Given the description of an element on the screen output the (x, y) to click on. 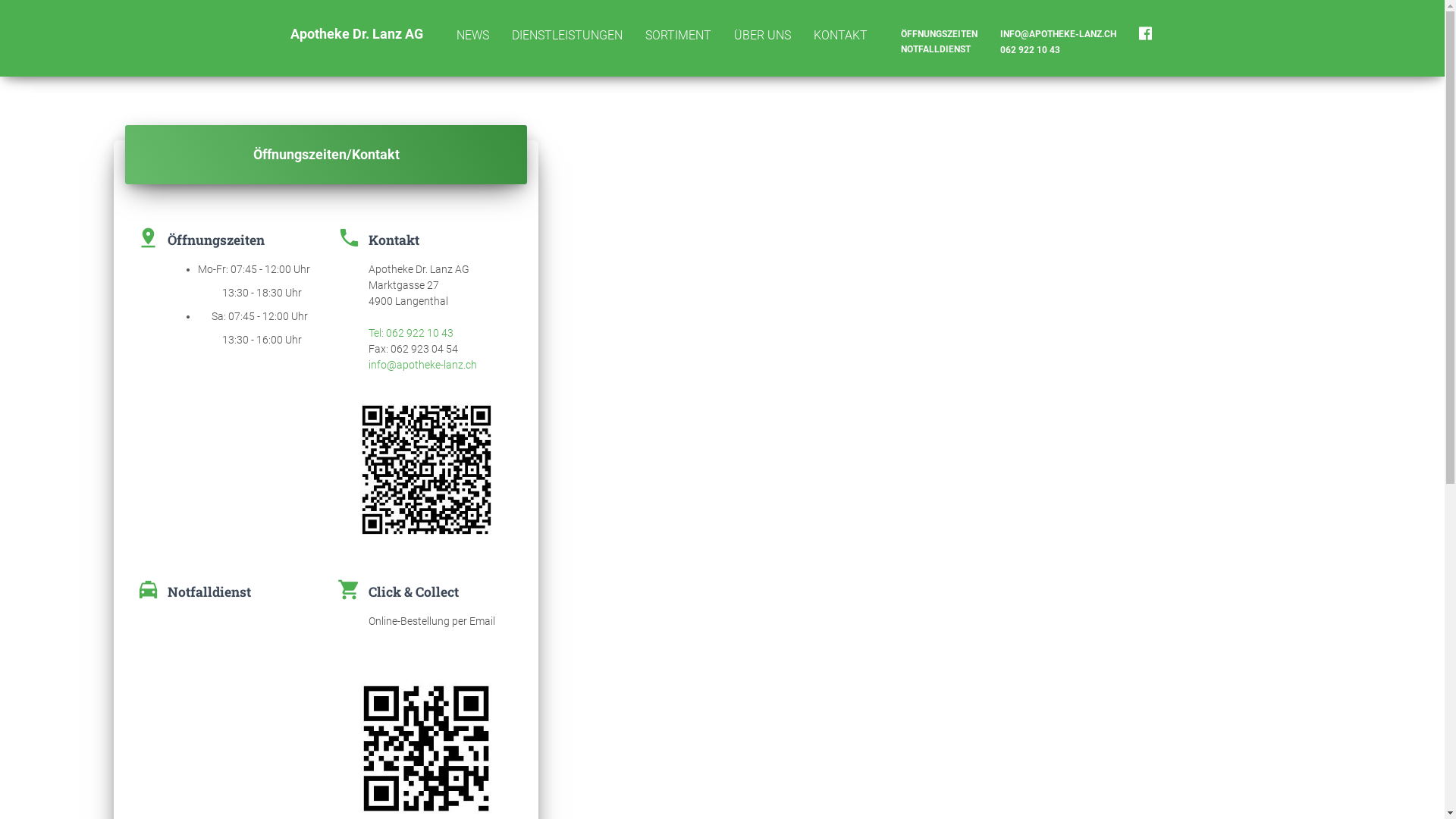
SORTIMENT Element type: text (677, 35)
NEWS Element type: text (471, 35)
Apotheke Dr. Lanz AG Element type: text (356, 34)
DIENSTLEISTUNGEN Element type: text (566, 35)
info@apotheke-lanz.ch Element type: text (422, 364)
INFO@APOTHEKE-LANZ.CH Element type: text (1057, 34)
KONTAKT Element type: text (840, 35)
Tel: 062 922 10 43 Element type: text (410, 332)
062 922 10 43 Element type: text (1057, 50)
